Given the description of an element on the screen output the (x, y) to click on. 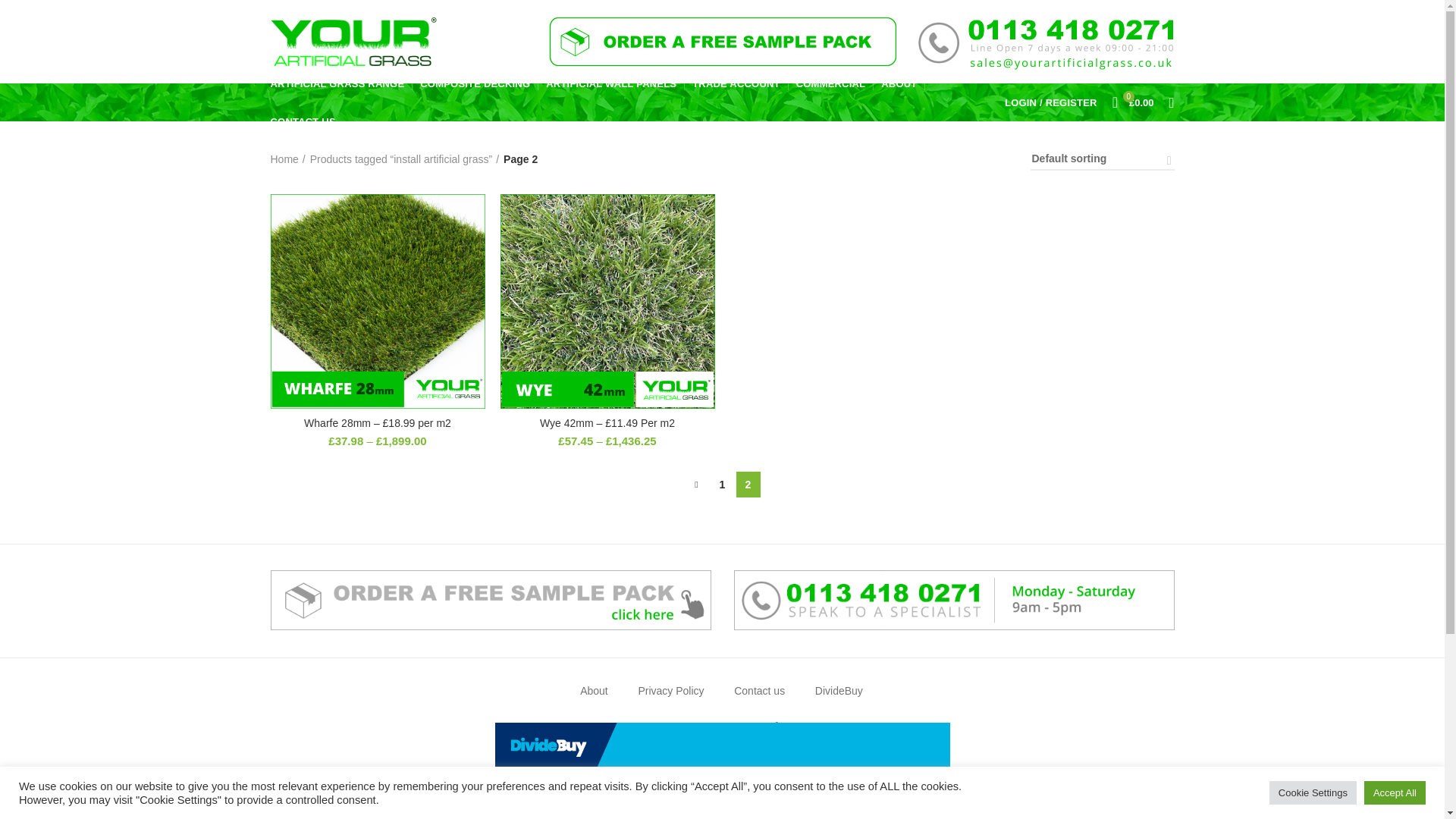
Home (286, 159)
CONTACT US (302, 121)
ARTIFICIAL GRASS RANGE (337, 83)
COMMERCIAL (831, 83)
Login (972, 320)
COMPOSITE DECKING (474, 83)
TRADE ACCOUNT (735, 83)
ARTIFICIAL WALL PANELS (611, 83)
ABOUT (898, 83)
